Given the description of an element on the screen output the (x, y) to click on. 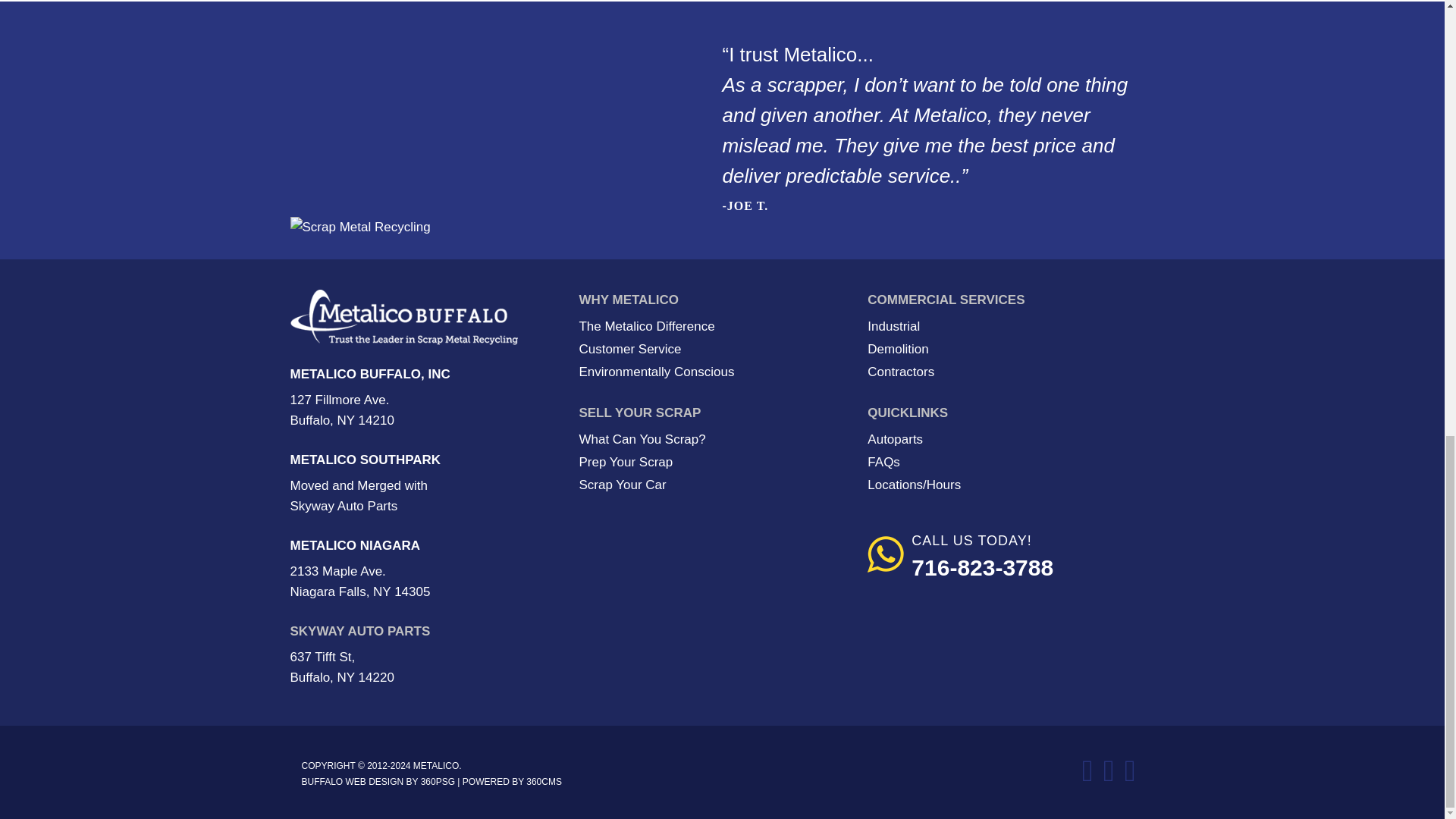
Customer Service (629, 349)
METALICO NIAGARA (354, 545)
METALICO SOUTHPARK (365, 459)
The Metalico Difference (646, 326)
METALICO BUFFALO, INC (369, 373)
